Given the description of an element on the screen output the (x, y) to click on. 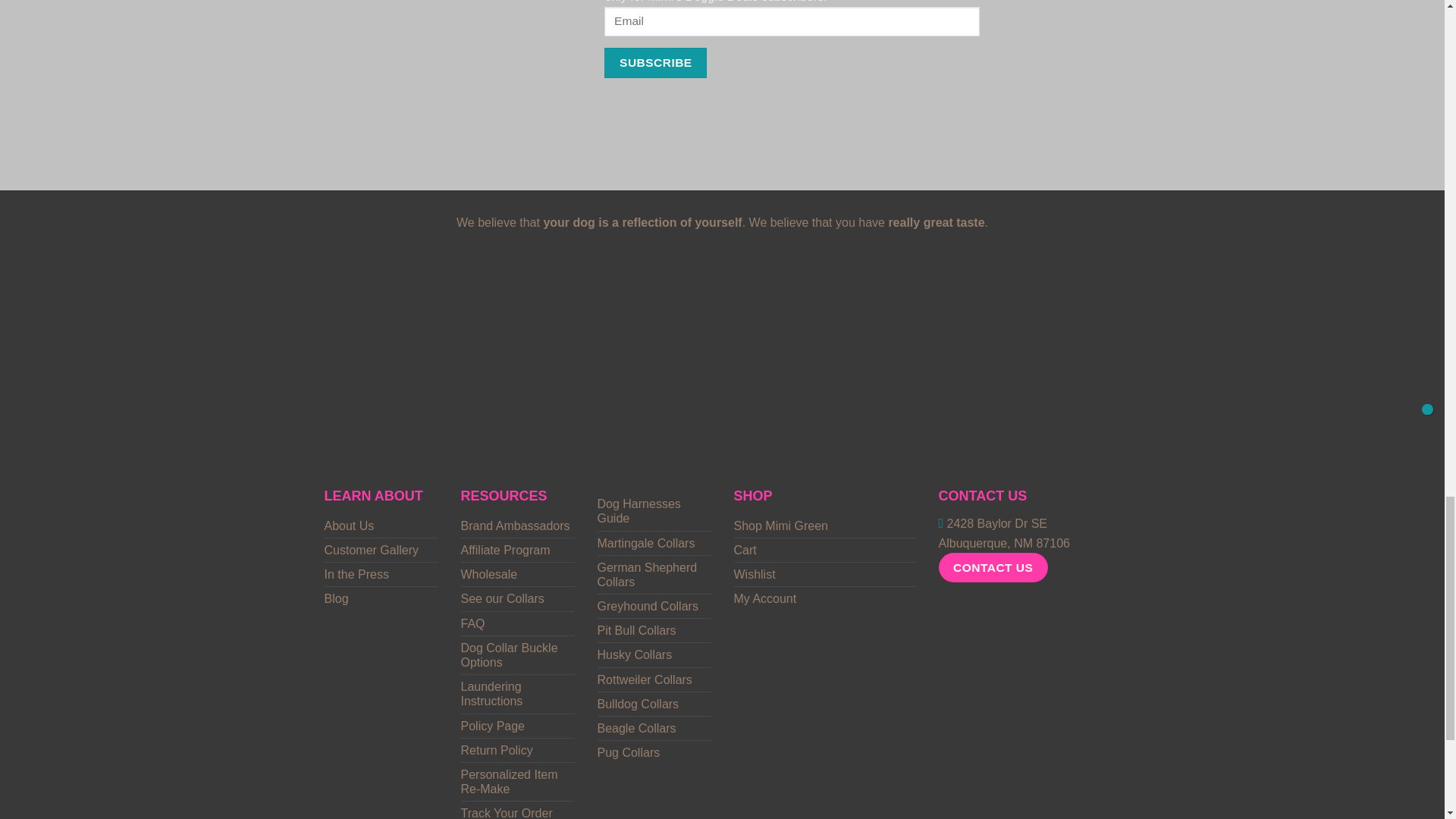
Subscribe (655, 61)
